Given the description of an element on the screen output the (x, y) to click on. 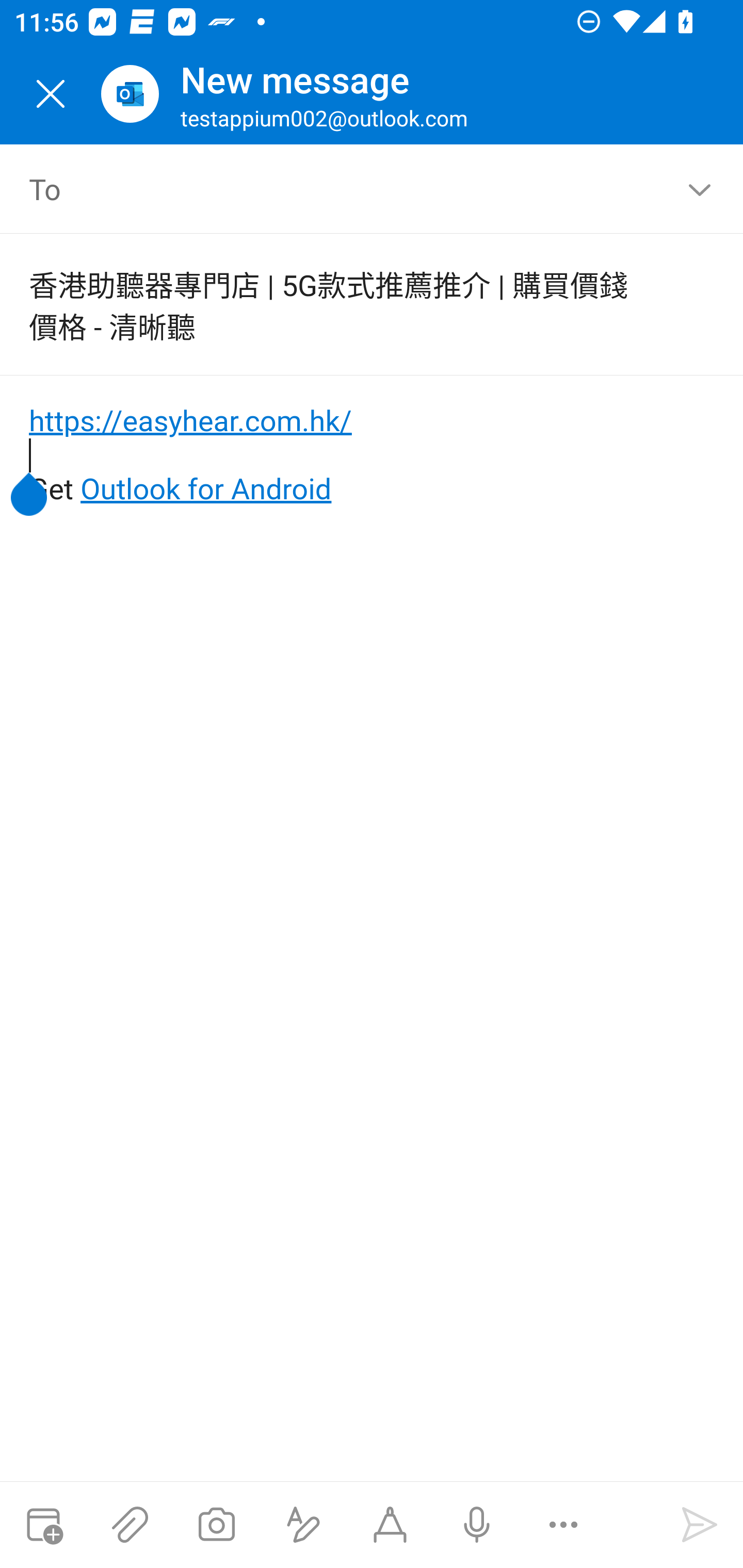
Close (50, 93)
香港助聽器專門店 | 5G款式推薦推介 | 購買價錢價格 - 清晰聽 (342, 303)
https://easyhear.com.hk/
Get Outlook for Android (372, 455)
Attach meeting (43, 1524)
Attach files (129, 1524)
Take a photo (216, 1524)
Show formatting options (303, 1524)
Start Ink compose (389, 1524)
Dictation (476, 1524)
More options (563, 1524)
Send (699, 1524)
